Given the description of an element on the screen output the (x, y) to click on. 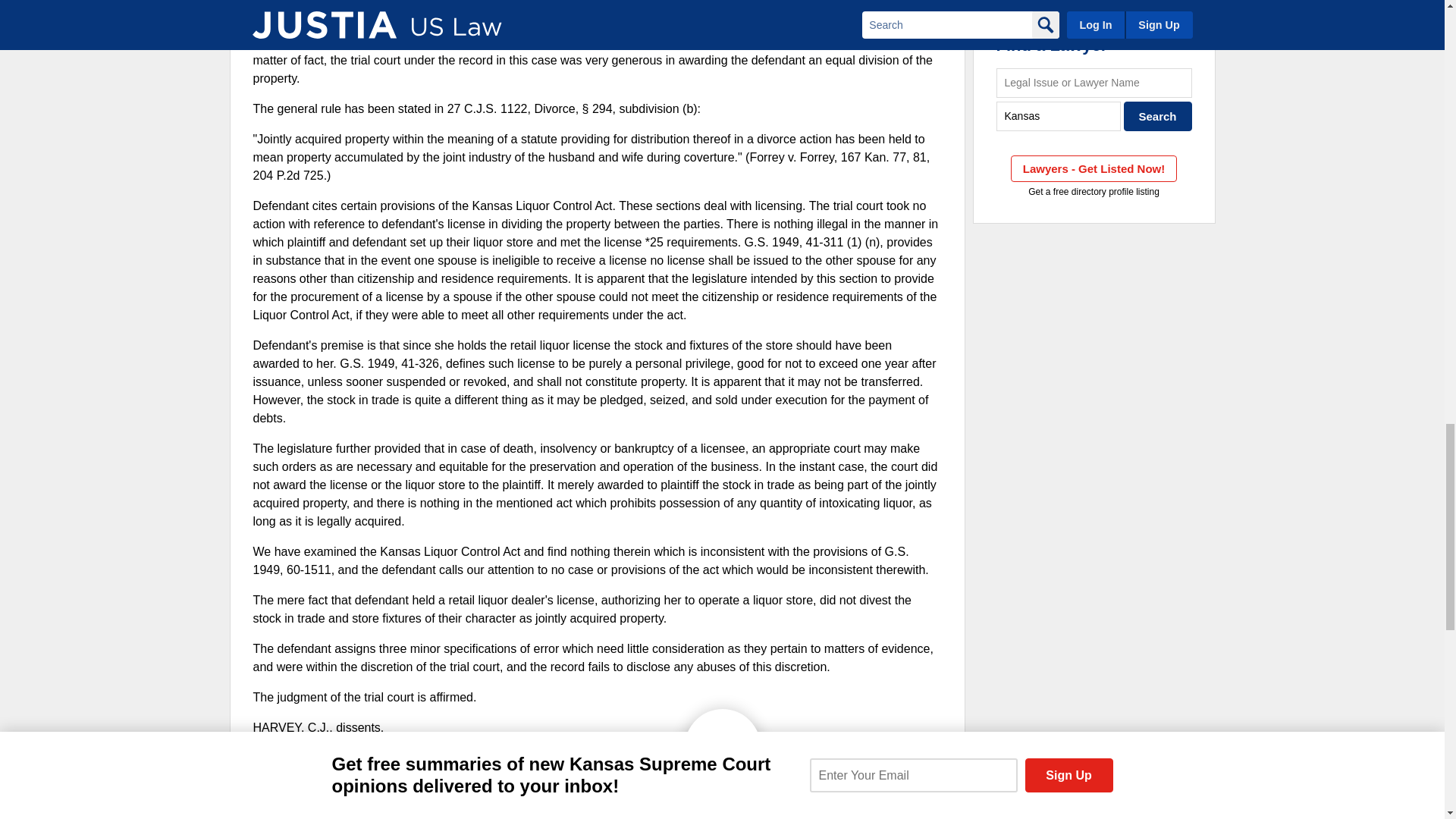
Search (1158, 116)
Search (1158, 116)
Kansas (1058, 116)
City, State (1058, 116)
Legal Issue or Lawyer Name (1093, 82)
